Given the description of an element on the screen output the (x, y) to click on. 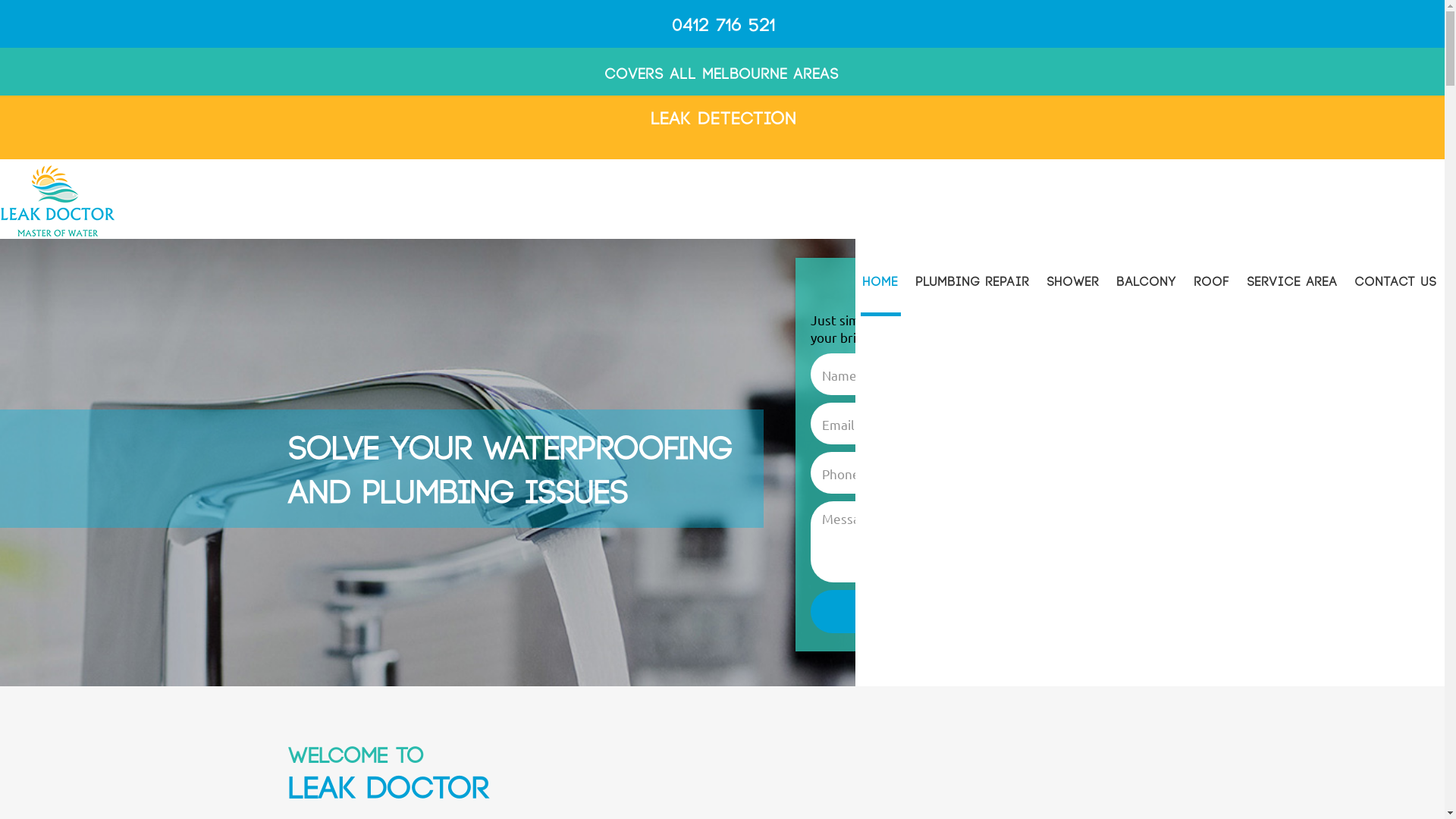
SERVICE AREA Element type: text (1292, 277)
SHOWER Element type: text (1072, 277)
BALCONY Element type: text (1146, 277)
CONTACT US Element type: text (1395, 277)
SKIP TO CONTENT Element type: text (857, 267)
Submit Element type: text (975, 611)
PLUMBING REPAIR Element type: text (972, 277)
ROOF Element type: text (1212, 277)
HOME Element type: text (880, 277)
0412 716 521 Element type: text (723, 25)
